Given the description of an element on the screen output the (x, y) to click on. 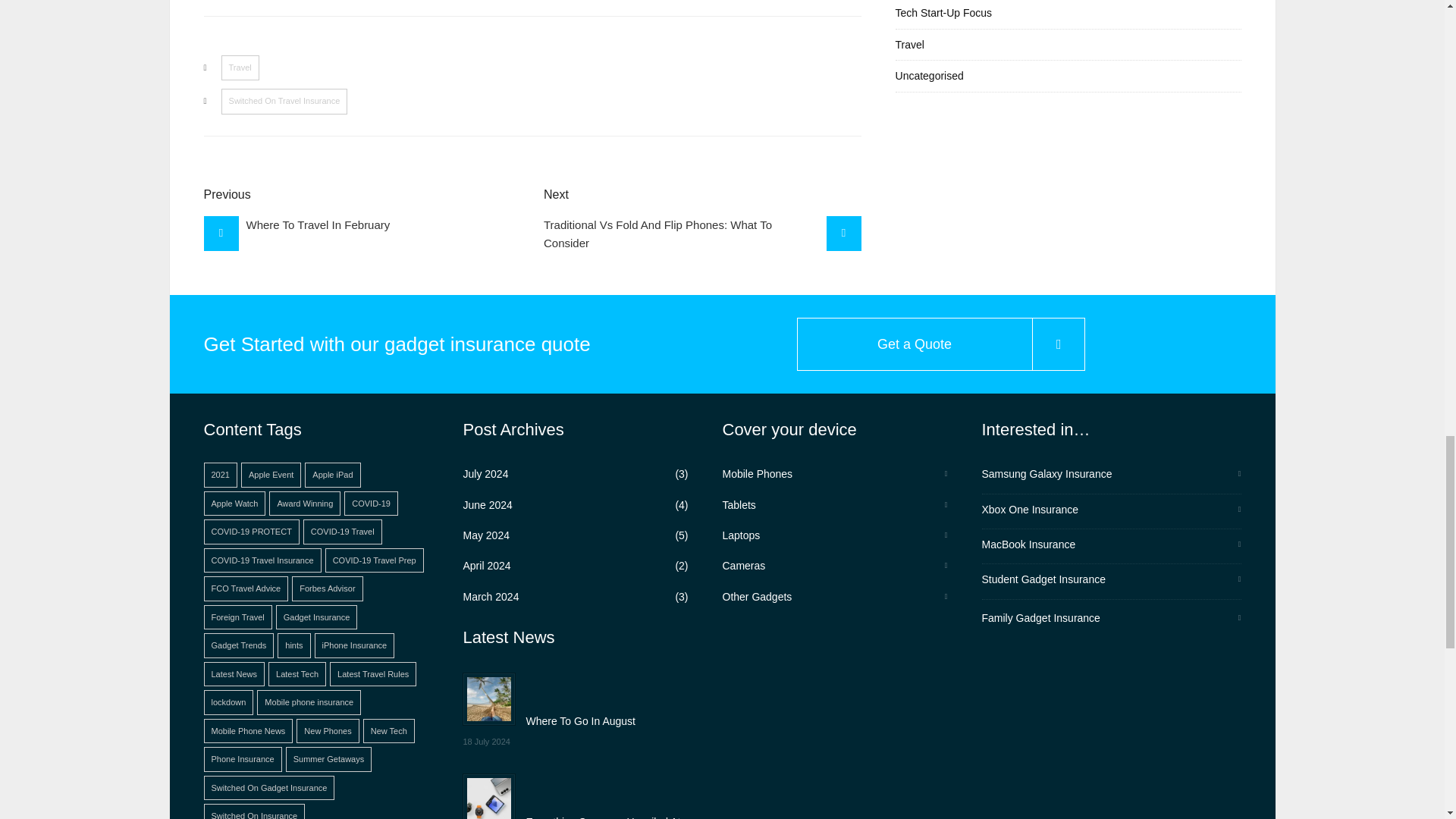
Travel (240, 68)
Switched On Travel Insurance (284, 101)
